Given the description of an element on the screen output the (x, y) to click on. 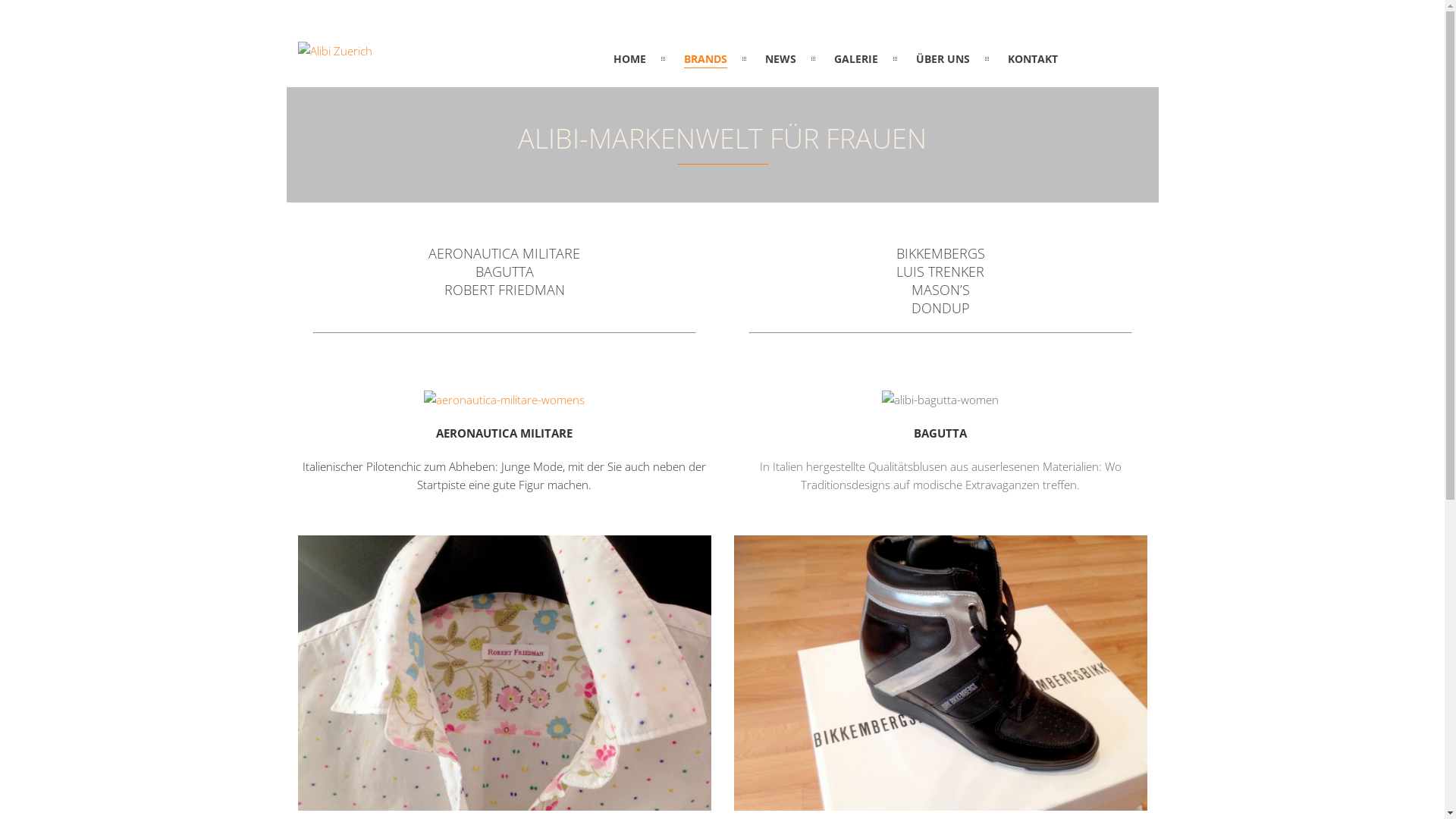
GALERIE Element type: text (855, 58)
BRANDS Element type: text (705, 58)
NEWS Element type: text (780, 58)
HOME Element type: text (629, 58)
KONTAKT Element type: text (1032, 58)
Alibi Zuerich Element type: hover (334, 50)
